Given the description of an element on the screen output the (x, y) to click on. 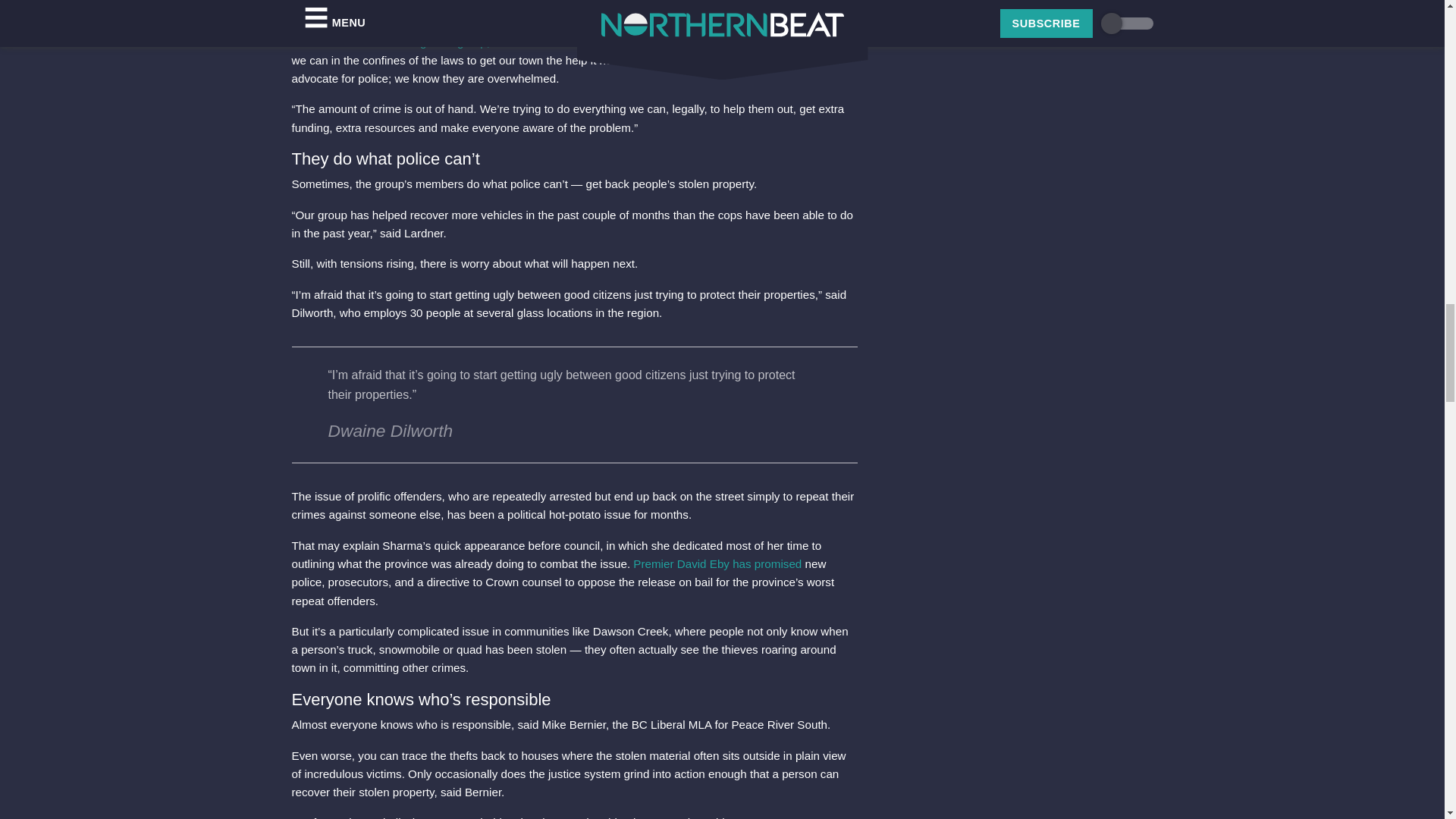
Premier David Eby has promised (717, 563)
labelled a vigilante group, (424, 41)
